Given the description of an element on the screen output the (x, y) to click on. 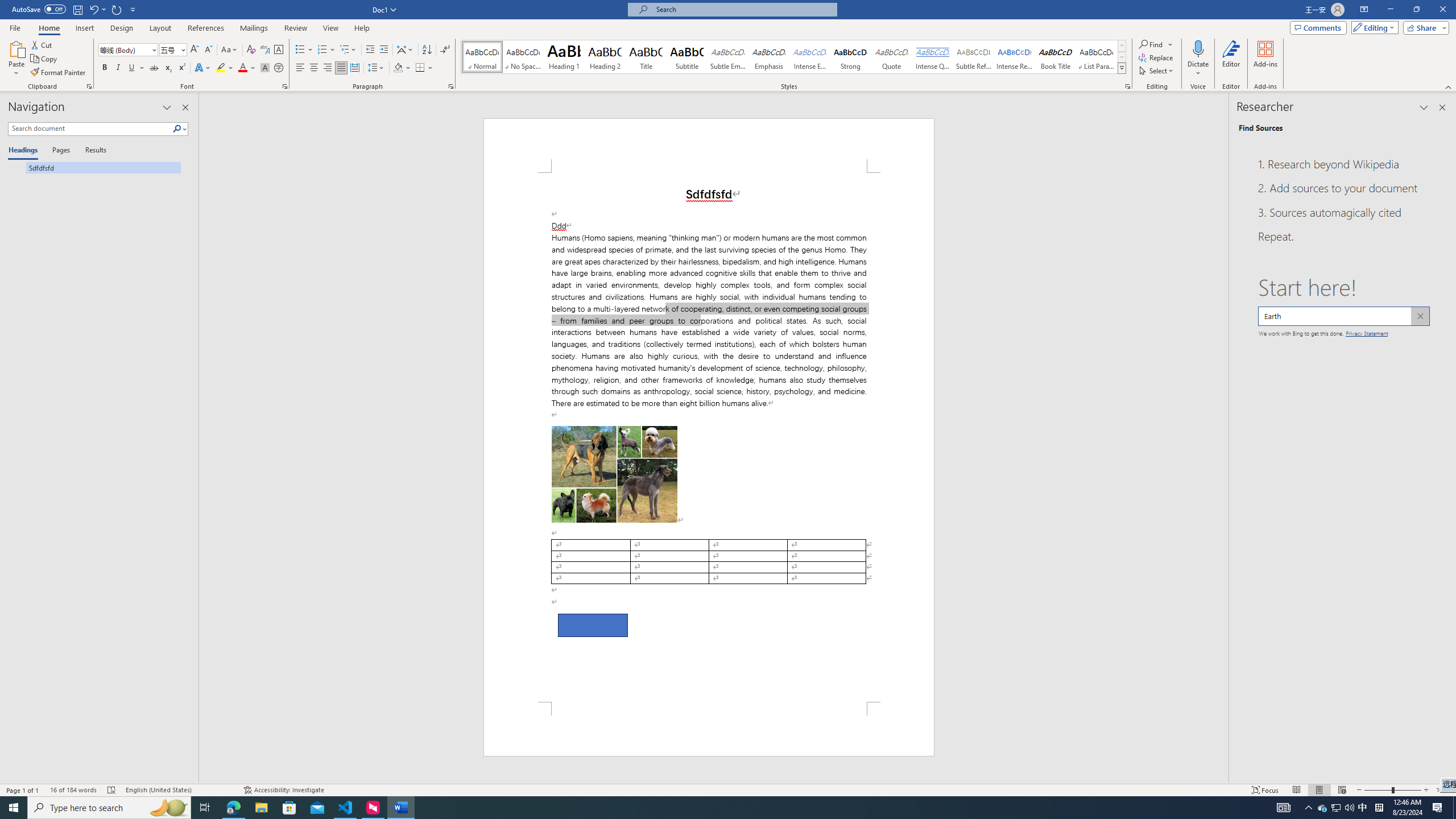
Decrease Indent (370, 49)
Book Title (1055, 56)
Review (295, 28)
Class: NetUIImage (1121, 68)
Share (1423, 27)
Sort... (426, 49)
Cut (42, 44)
Zoom (1392, 790)
Read Mode (1296, 790)
Collapse the Ribbon (1448, 86)
